Given the description of an element on the screen output the (x, y) to click on. 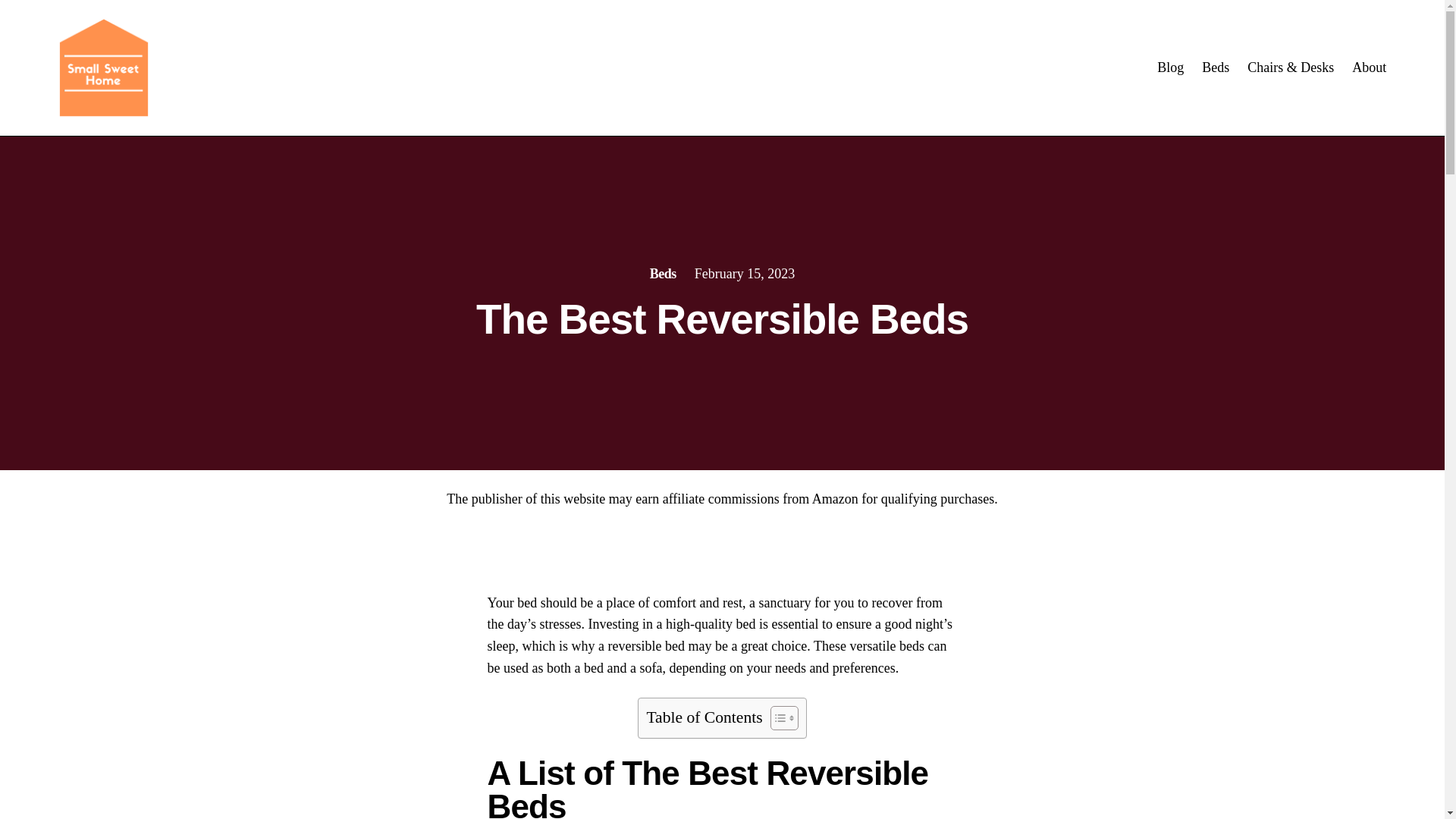
About (1369, 67)
Beds (1215, 67)
Beds (663, 273)
Blog (1170, 67)
